Given the description of an element on the screen output the (x, y) to click on. 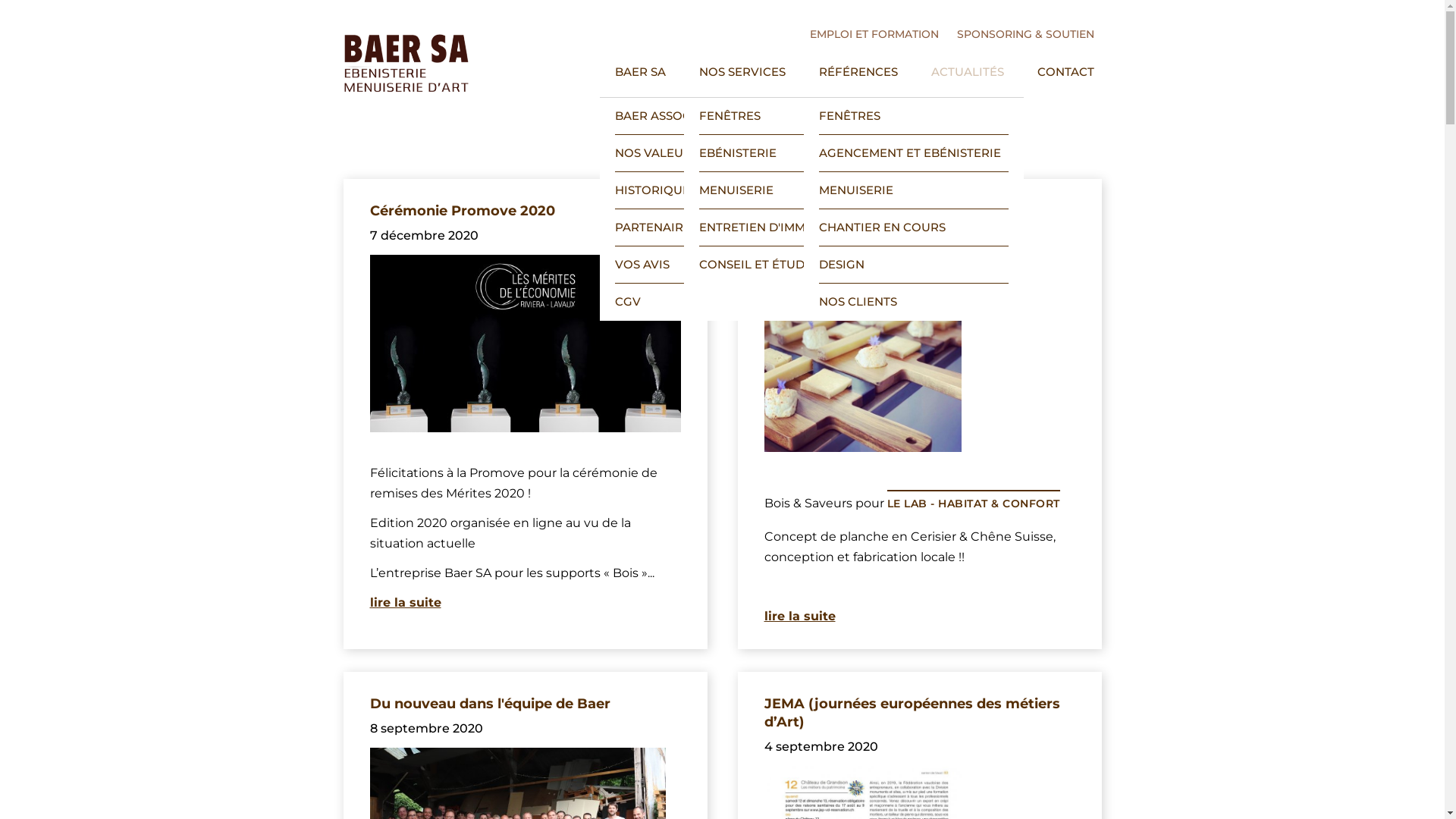
DESIGN Element type: text (913, 264)
LE LAB - HABITAT & CONFORT Element type: text (973, 503)
NOS CLIENTS Element type: text (913, 301)
PARTENAIRES Element type: text (709, 227)
HISTORIQUE Element type: text (709, 190)
baermenuiserie.ch Element type: text (404, 62)
CHANTIER EN COURS Element type: text (913, 227)
VOS AVIS Element type: text (709, 264)
lire la suite Element type: text (405, 602)
CONTACT Element type: text (1065, 76)
BAER SA Element type: text (639, 76)
lire la suite Element type: text (799, 615)
NOS VALEURS Element type: text (709, 153)
NOS SERVICES Element type: text (742, 76)
EMPLOI ET FORMATION Element type: text (874, 33)
MENUISERIE Element type: text (913, 190)
MENUISERIE Element type: text (793, 190)
CGV Element type: text (709, 301)
SPONSORING & SOUTIEN Element type: text (1025, 33)
Bois & Saveurs Element type: text (816, 210)
Image Bois & Saveurs Element type: hover (862, 352)
ENTRETIEN D'IMMEUBLES Element type: text (793, 227)
